Given the description of an element on the screen output the (x, y) to click on. 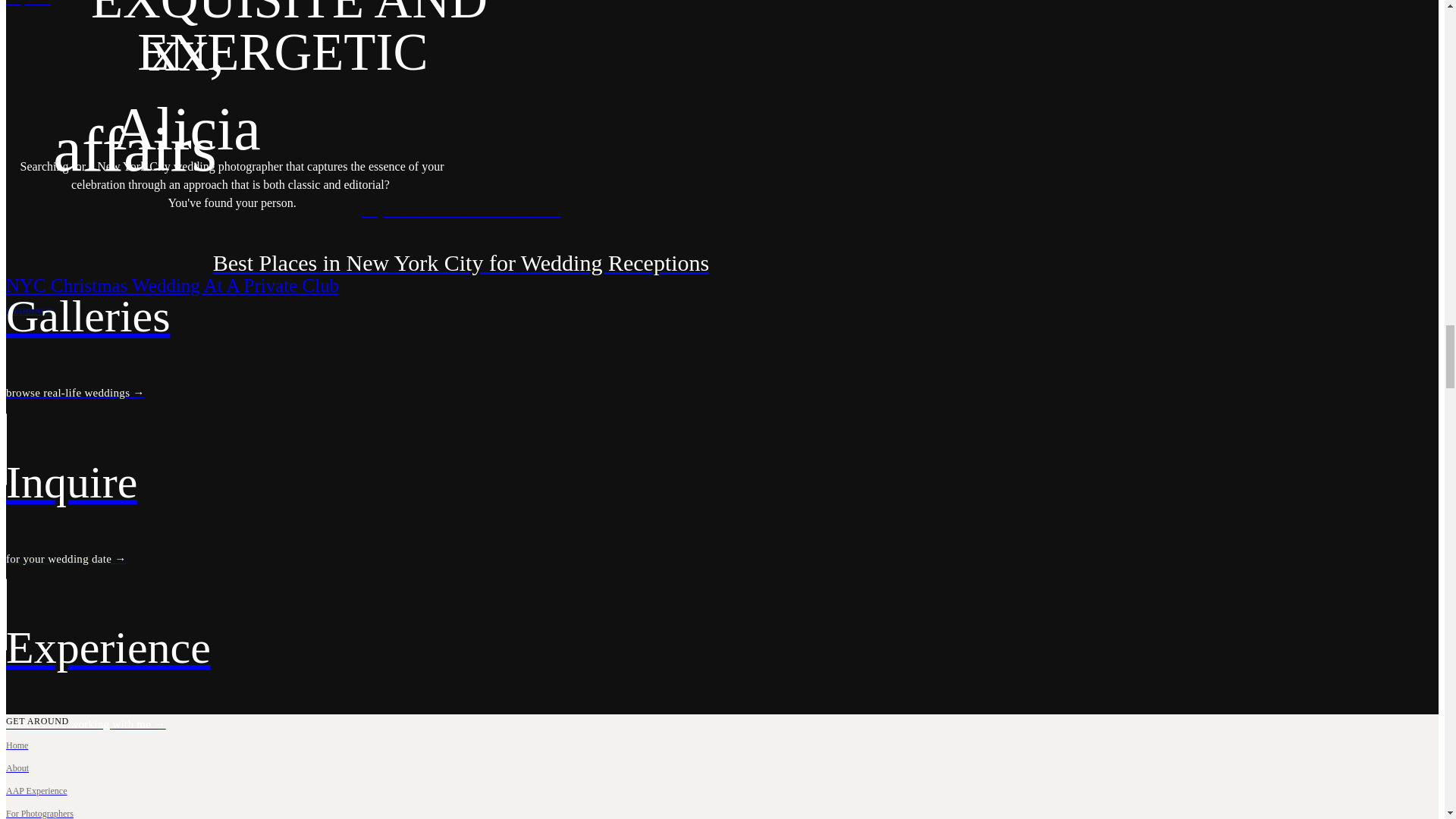
Best Places in New York City for Wedding Receptions (460, 262)
